Given the description of an element on the screen output the (x, y) to click on. 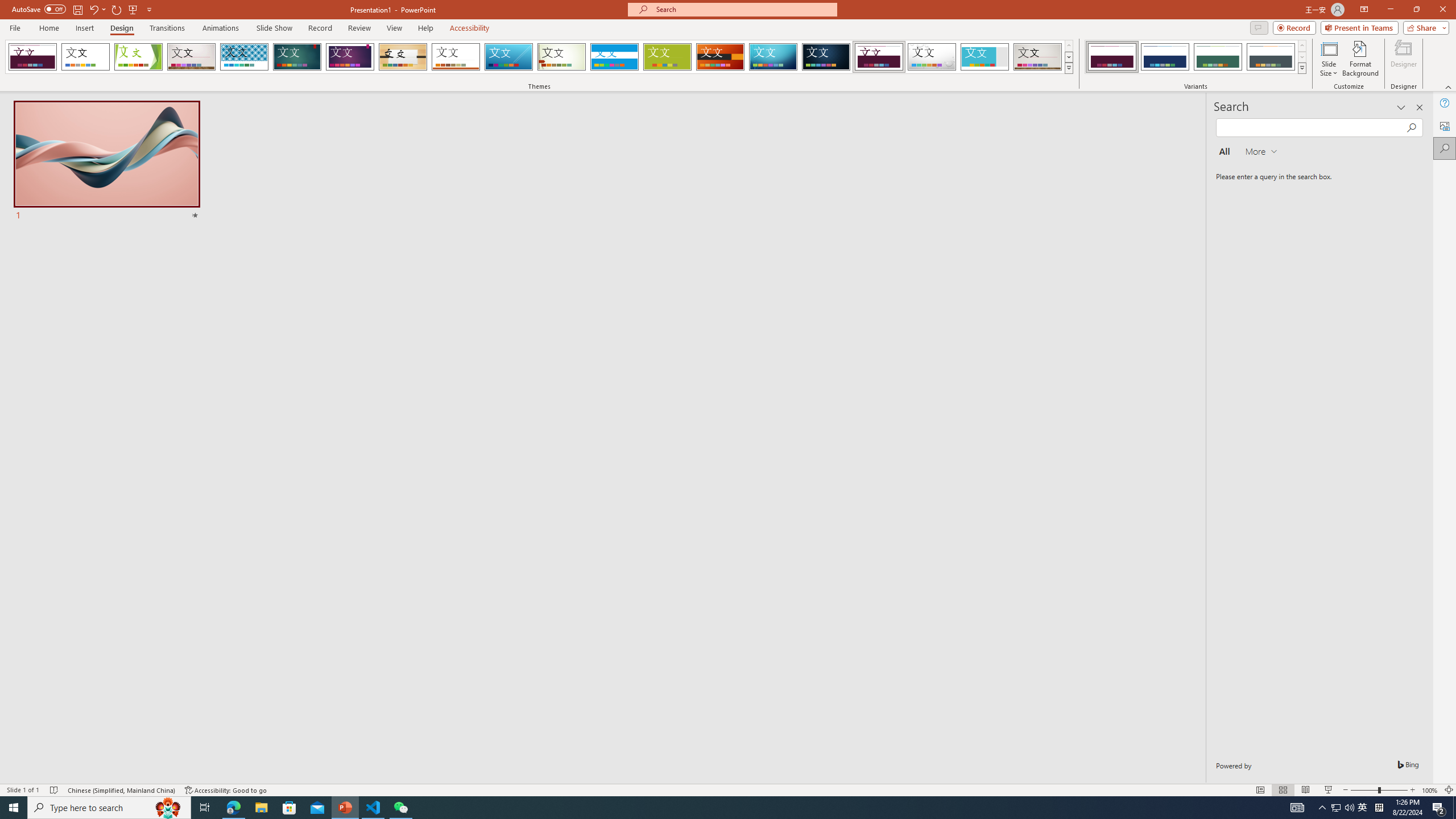
Slice (508, 56)
Wisp (561, 56)
Facet (138, 56)
Zoom 100% (1430, 790)
Droplet (931, 56)
Dividend Variant 3 (1217, 56)
